Given the description of an element on the screen output the (x, y) to click on. 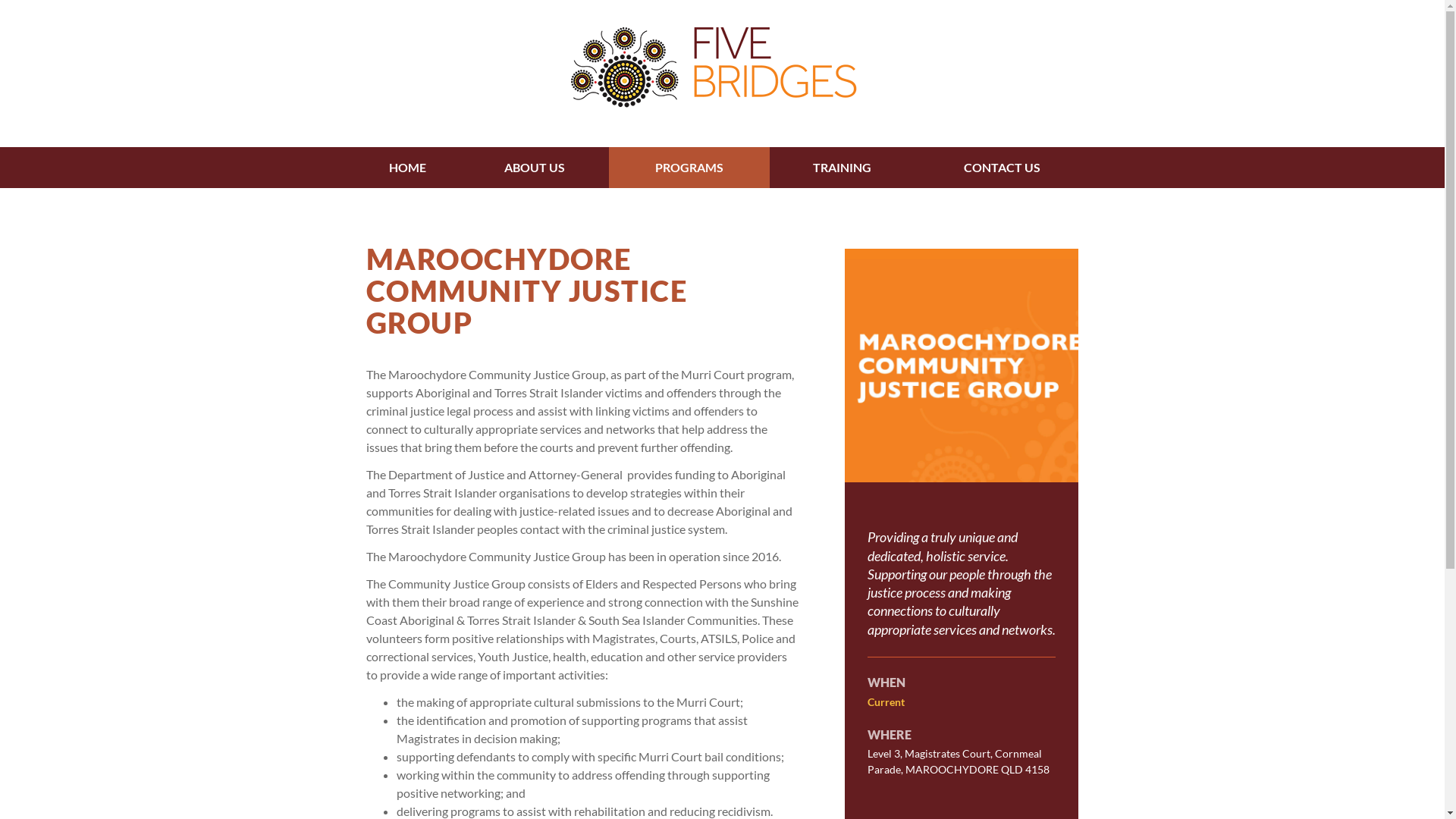
ABOUT US Element type: text (534, 167)
PROGRAMS Element type: text (689, 167)
Home Element type: hover (721, 73)
Skip to main content Element type: text (0, 0)
CONTACT US Element type: text (1001, 167)
HOME Element type: text (407, 167)
TRAINING Element type: text (841, 167)
